Given the description of an element on the screen output the (x, y) to click on. 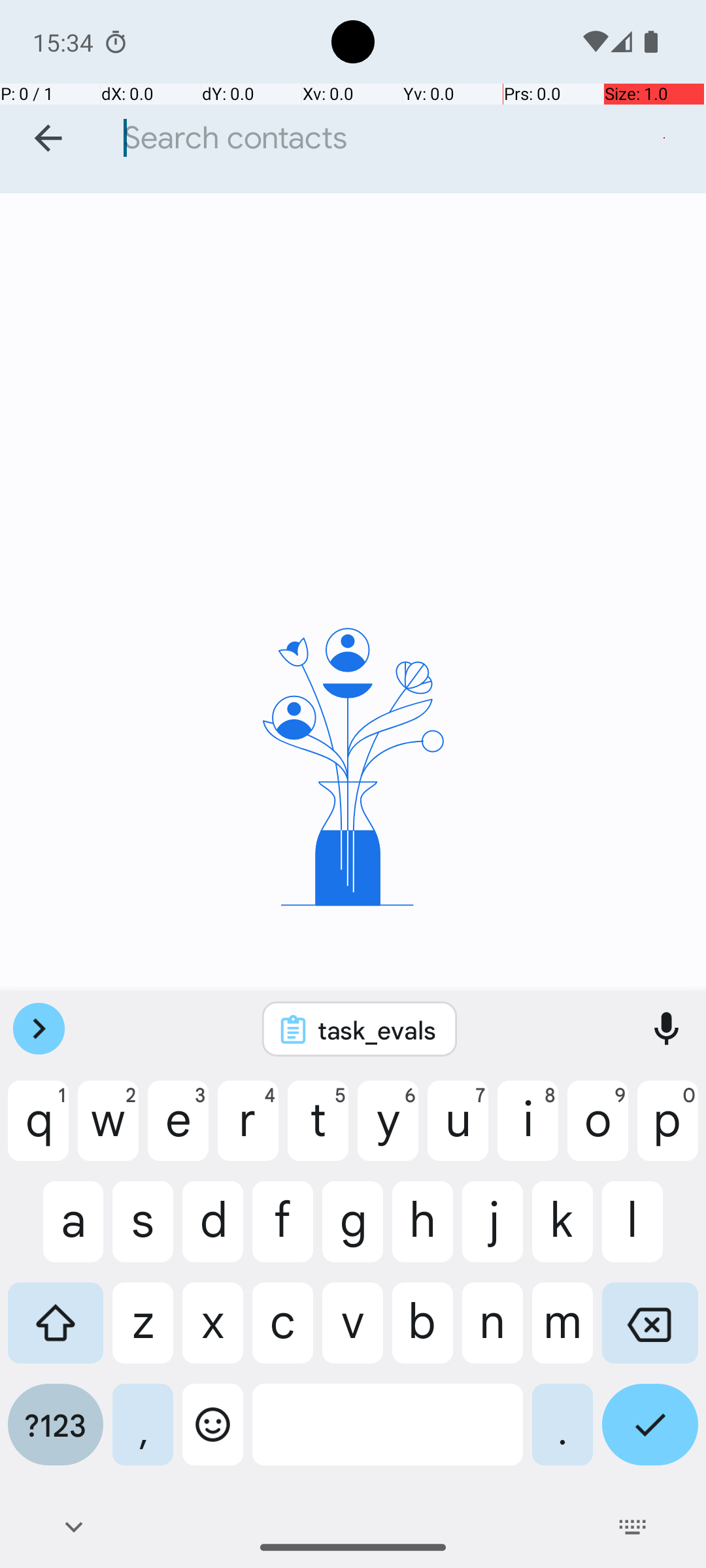
Search contacts Element type: android.widget.EditText (407, 138)
task_evals Element type: android.widget.TextView (376, 1029)
